Given the description of an element on the screen output the (x, y) to click on. 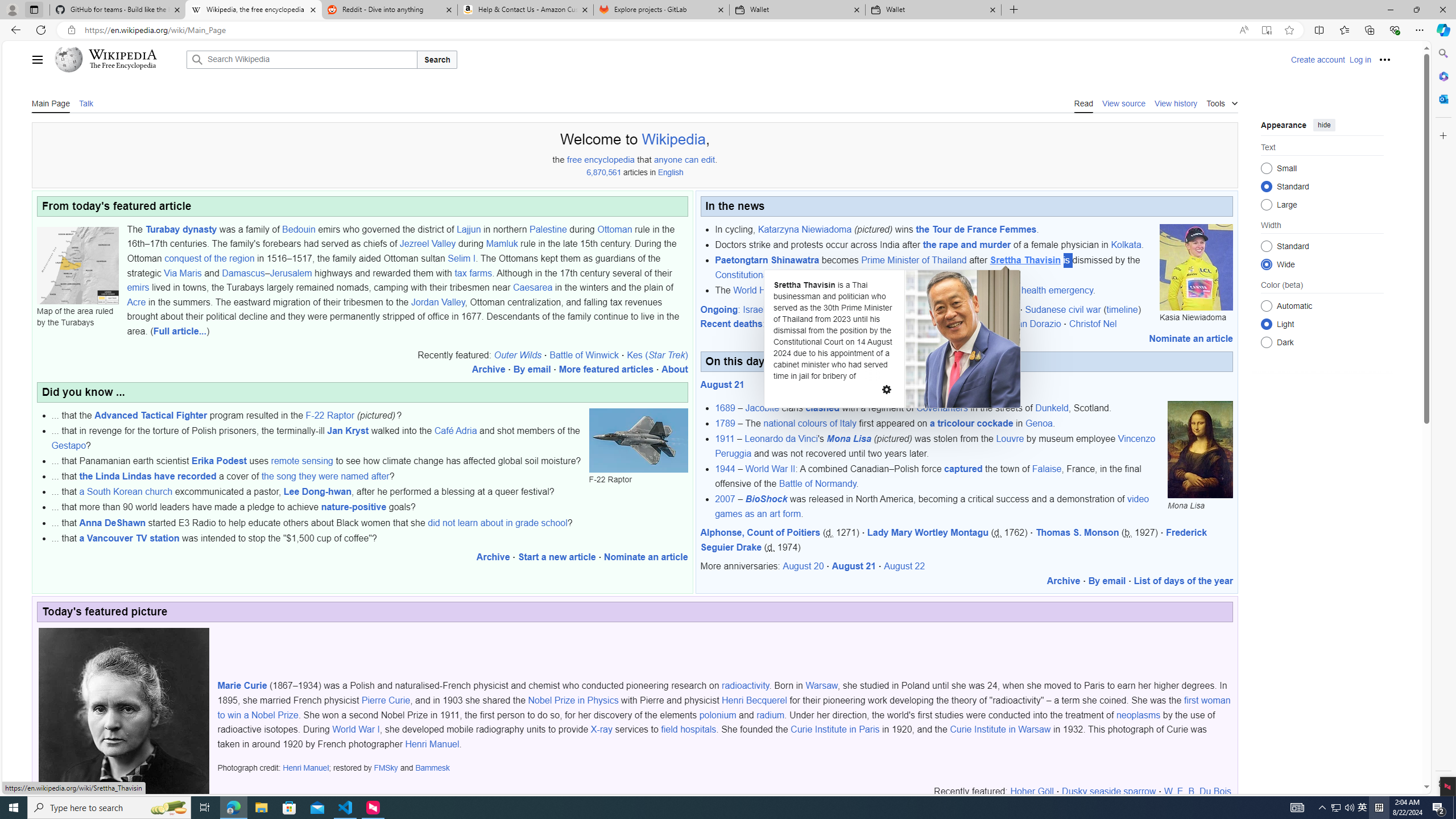
Ottoman (613, 229)
Lee Dong-hwan (316, 491)
Mamluk (502, 243)
Create account (1317, 58)
Caesarea (532, 287)
Talk (85, 102)
August 20 (803, 566)
Leonardo da Vinci (781, 438)
Warsaw (821, 685)
